Given the description of an element on the screen output the (x, y) to click on. 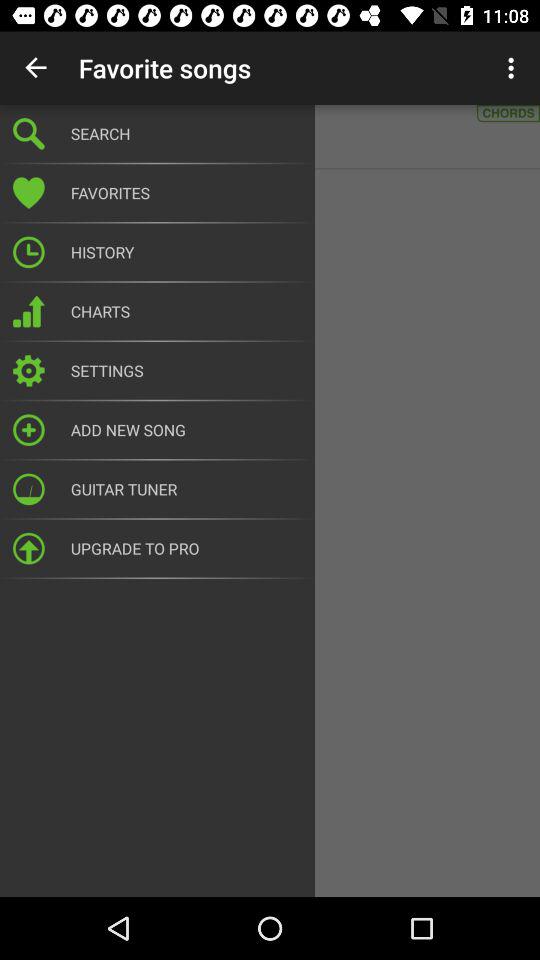
click history icon (185, 252)
